Given the description of an element on the screen output the (x, y) to click on. 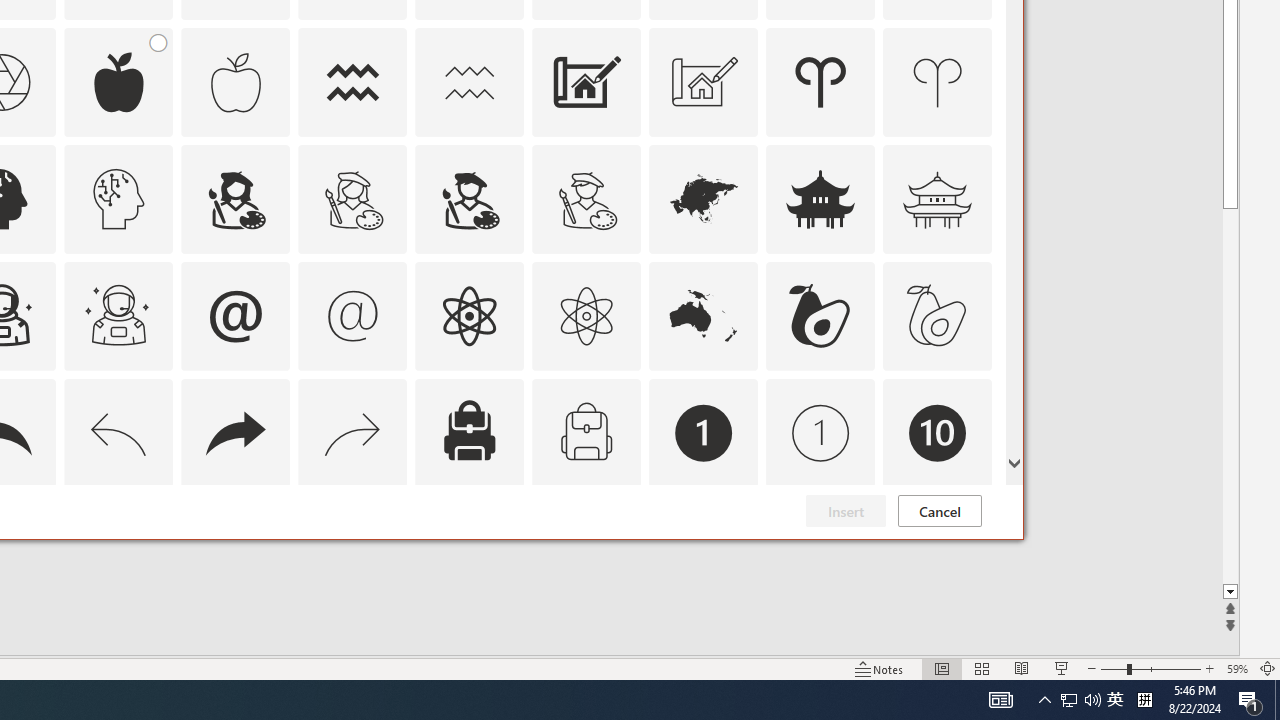
AutomationID: Icons_Badge7_M (469, 550)
AutomationID: Icons_Badge9 (820, 550)
AutomationID: Icons_Apple_M (235, 82)
AutomationID: Icons_AsianTemple_M (938, 198)
AutomationID: Icons_Avocado_M (938, 316)
AutomationID: Icons_Asia (703, 198)
AutomationID: Icons_ArtistMale_M (586, 198)
AutomationID: Icons_Badge9_M (938, 550)
AutomationID: Icons_Backpack (469, 432)
